Given the description of an element on the screen output the (x, y) to click on. 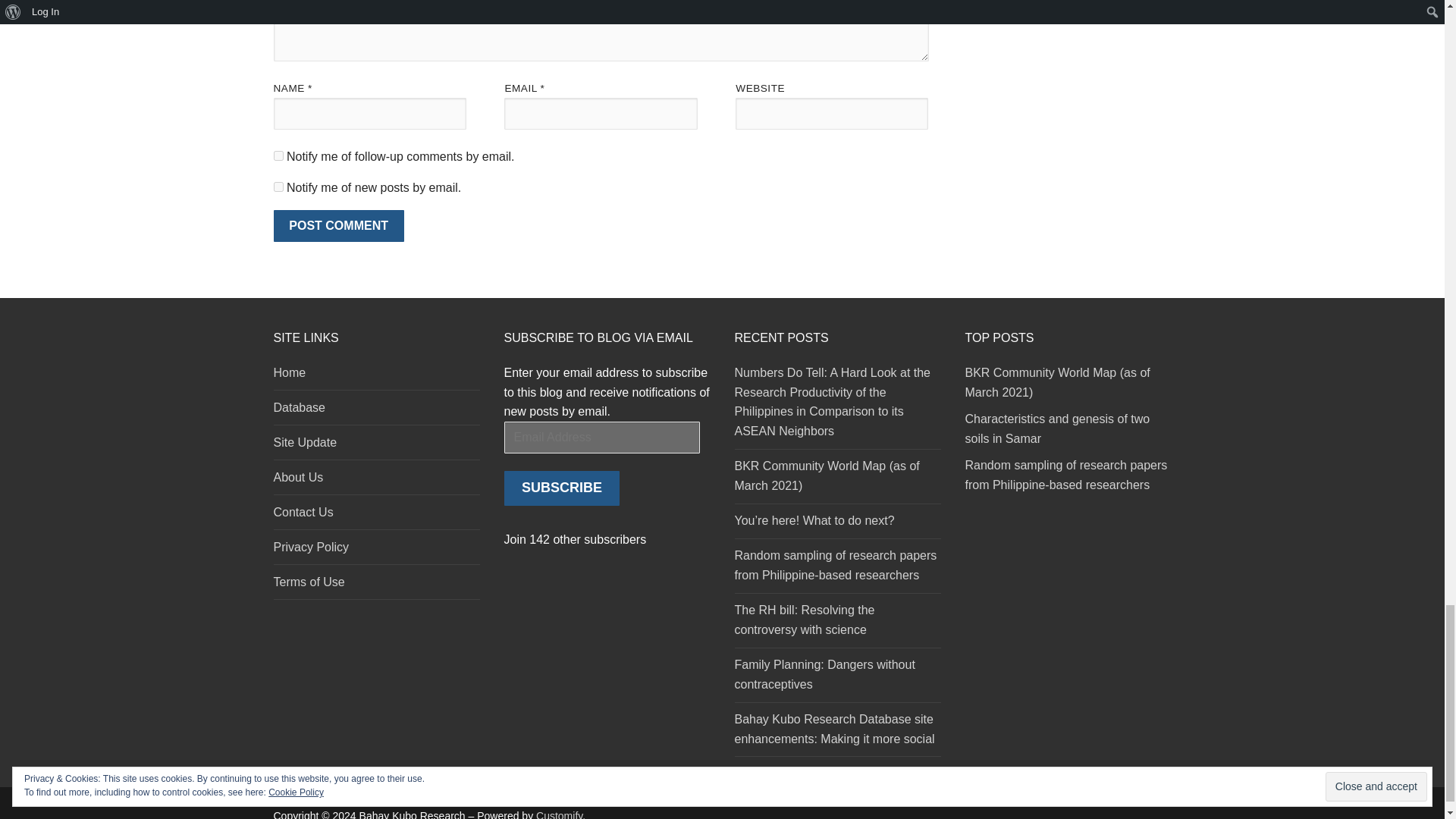
subscribe (277, 155)
subscribe (277, 186)
Post Comment (338, 225)
